Given the description of an element on the screen output the (x, y) to click on. 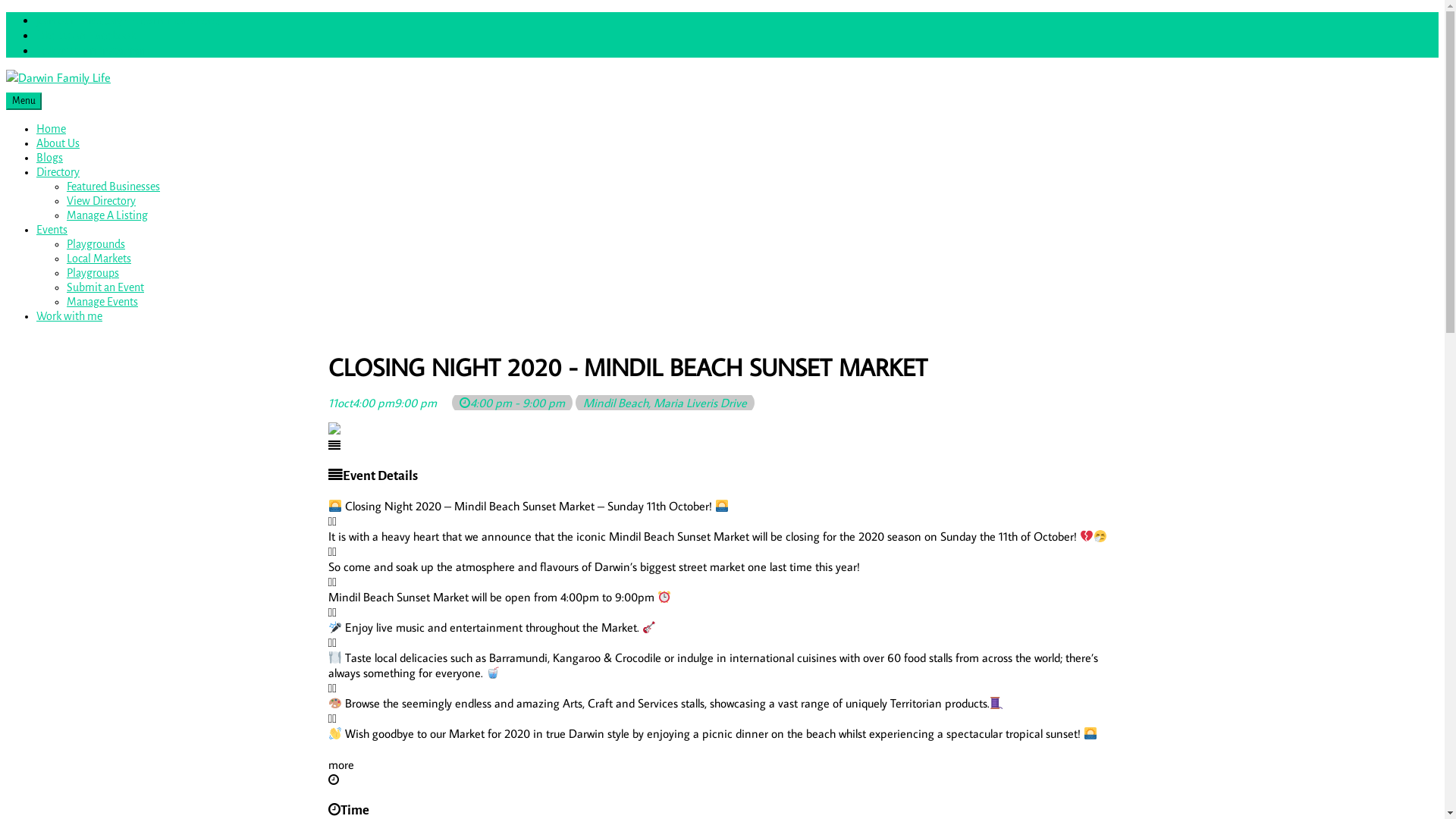
Featured Businesses Element type: text (113, 186)
About Us Element type: text (57, 143)
Playgrounds Element type: text (95, 244)
Like us on Facebook Element type: text (85, 34)
Submit an Event Element type: text (105, 287)
Home Element type: text (50, 128)
Follow us on Instagram Element type: text (92, 49)
Manage Events Element type: text (102, 301)
Directory Element type: text (57, 172)
Blogs Element type: text (49, 157)
Work with me Element type: text (69, 316)
Local Markets Element type: text (98, 258)
Events Element type: text (51, 229)
Menu Element type: text (23, 100)
Manage A Listing Element type: text (106, 215)
Playgroups Element type: text (92, 272)
View Directory Element type: text (100, 200)
